Given the description of an element on the screen output the (x, y) to click on. 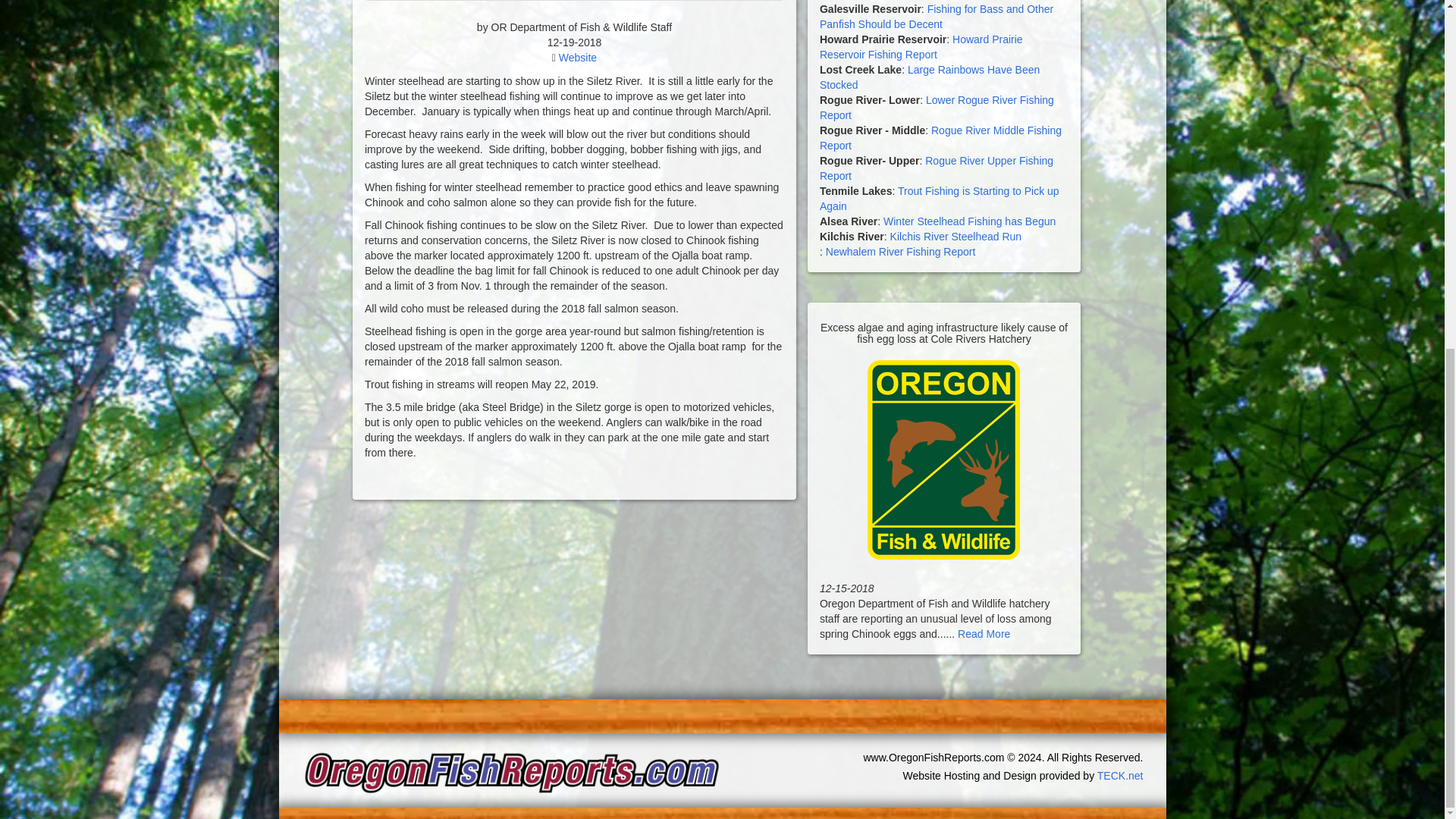
Lower Rogue River Fishing Report (936, 107)
Rogue River Middle Fishing Report (940, 137)
Trout Fishing is Starting to Pick up Again (939, 198)
Winter Steelhead Fishing has Begun (969, 221)
Website (577, 57)
Howard Prairie Reservoir Fishing Report (921, 46)
Large Rainbows Have Been Stocked (929, 76)
Rogue River Upper Fishing Report (935, 167)
Kilchis River Steelhead Run (955, 236)
Fishing for Bass and Other Panfish Should be Decent (935, 16)
Newhalem River Fishing Report (900, 251)
